Given the description of an element on the screen output the (x, y) to click on. 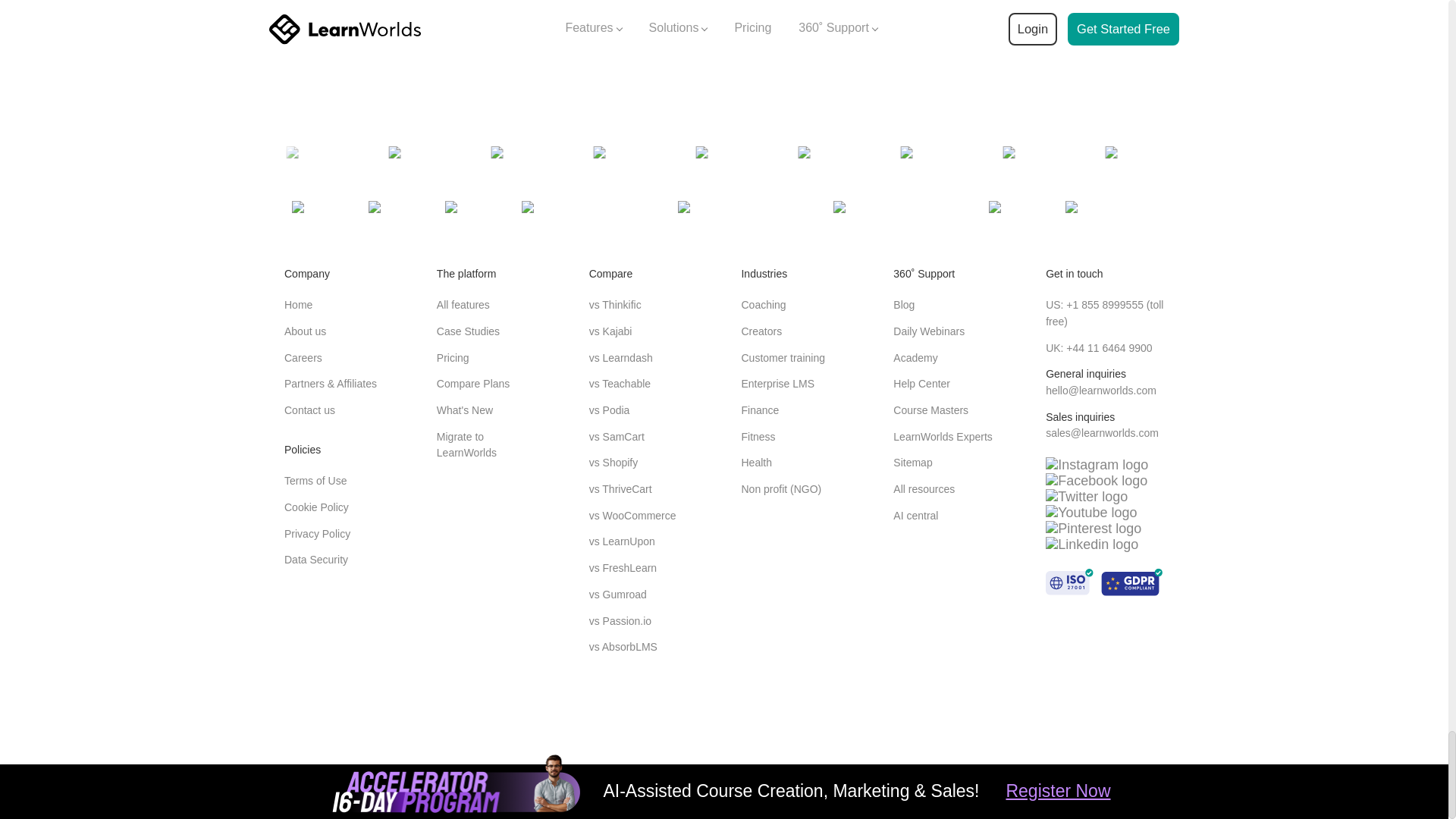
send email to LearnWorlds (1100, 390)
send email to LearnWorlds (1101, 432)
